Given the description of an element on the screen output the (x, y) to click on. 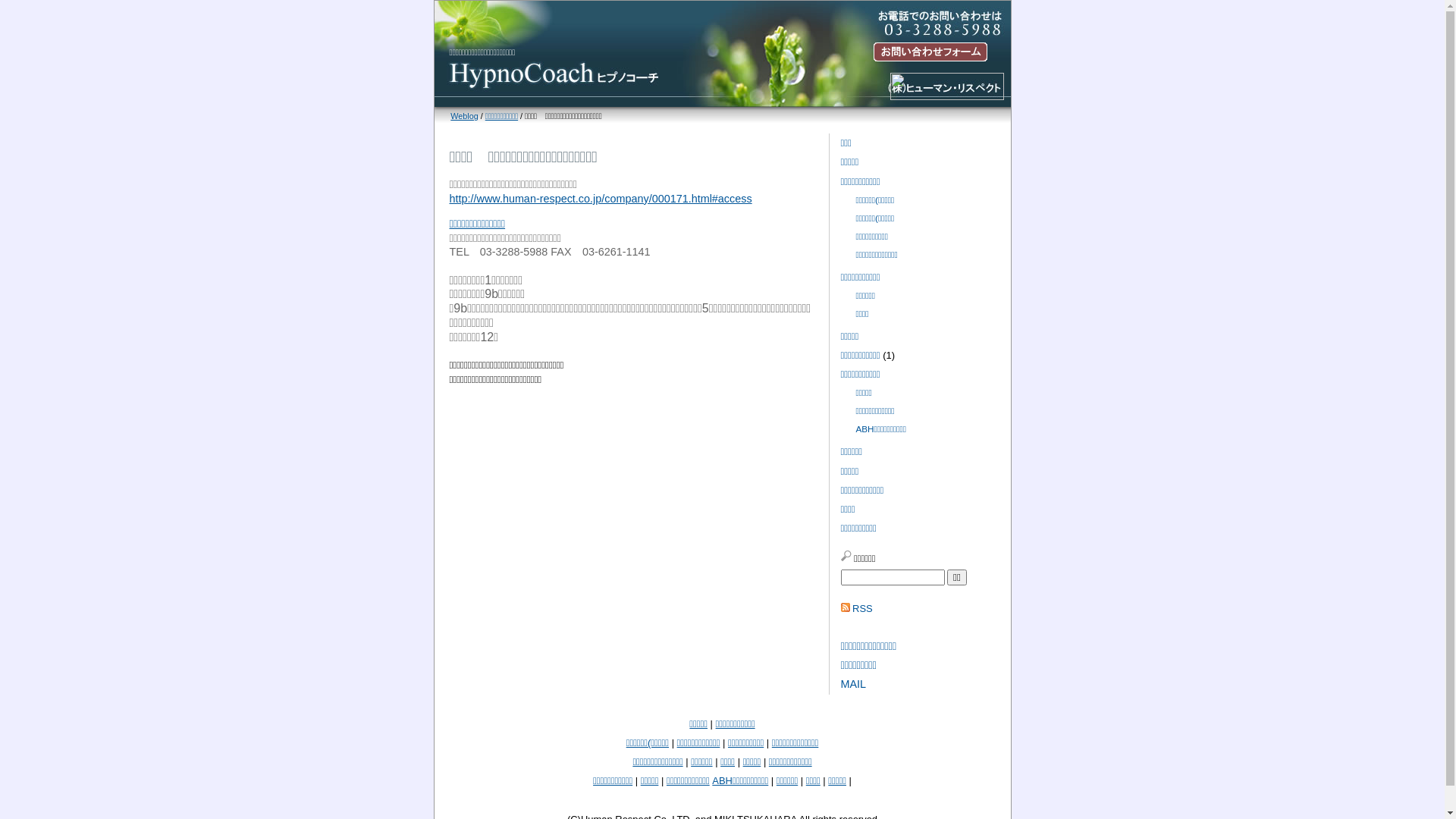
MAIL Element type: text (853, 683)
RSS Element type: text (862, 608)
http://www.human-respect.co.jp/company/000171.html#access Element type: text (599, 198)
Weblog Element type: text (463, 115)
